Given the description of an element on the screen output the (x, y) to click on. 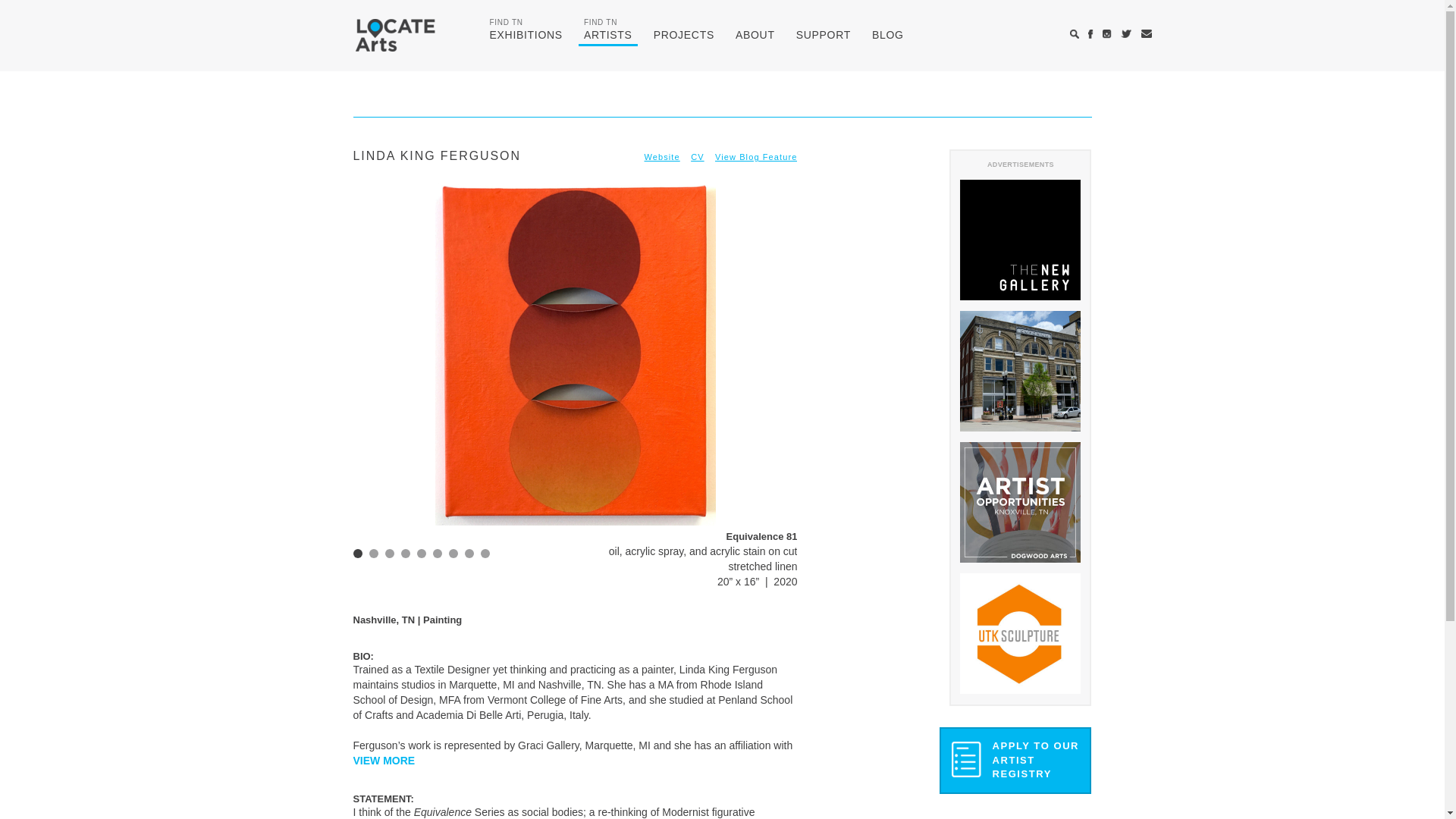
PROJECTS (525, 36)
ABOUT (683, 36)
8 (755, 36)
7 (607, 36)
View Blog Feature (468, 552)
Prev (453, 552)
APPLY TO OUR ARTIST REGISTRY (755, 156)
3 (373, 382)
6 (1014, 760)
1 (389, 552)
SUPPORT (436, 552)
9 (357, 552)
CV (823, 36)
